Given the description of an element on the screen output the (x, y) to click on. 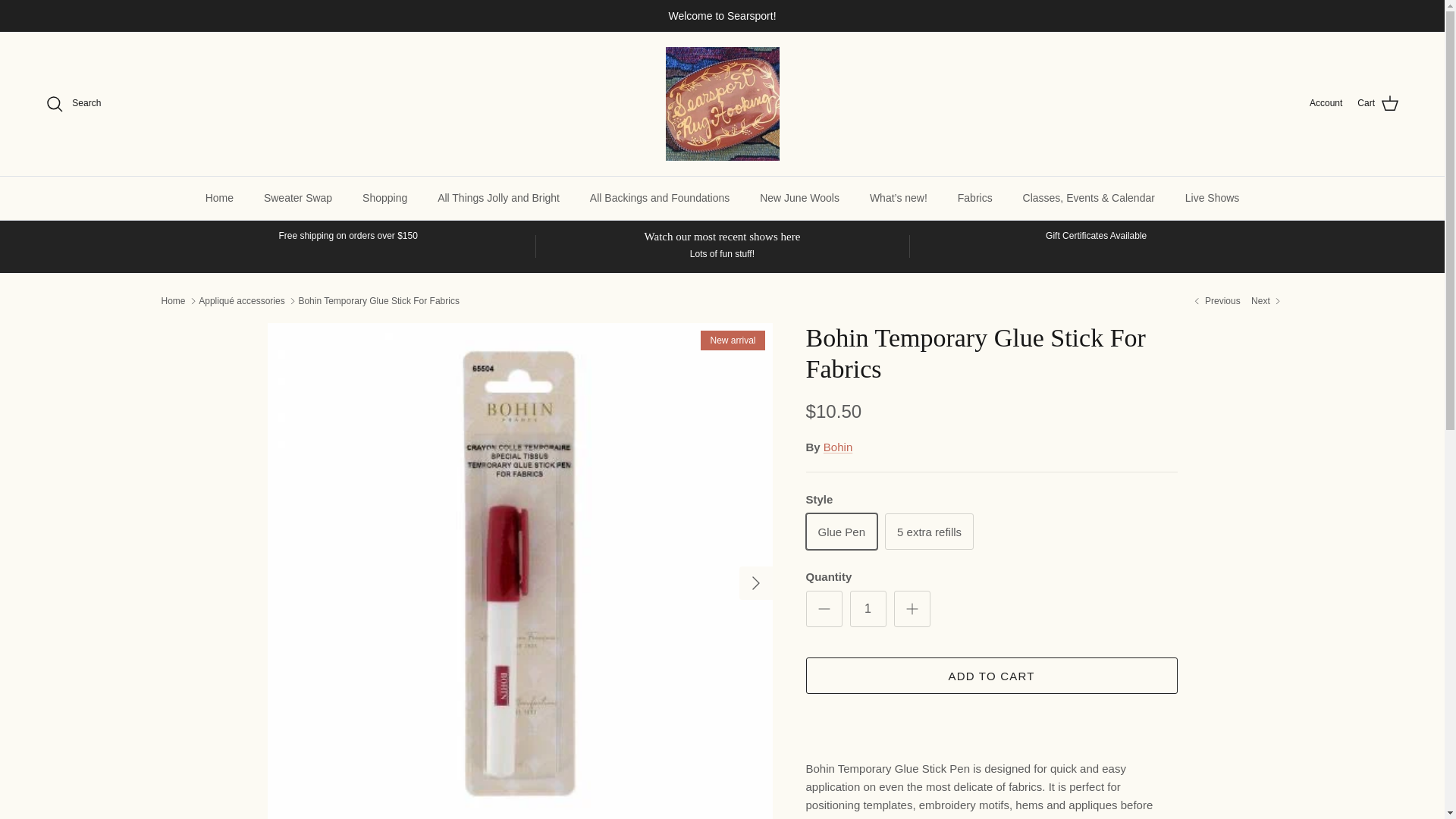
Wonder Fuse Fusable Web (1215, 300)
1 (866, 608)
Sweater Swap (298, 198)
Cart (1377, 103)
Home (219, 198)
Sue Daley Glue Pens (1266, 300)
Shopping (384, 198)
Searsport Rug Hooking  (721, 103)
Search (72, 104)
Account (1325, 103)
